Given the description of an element on the screen output the (x, y) to click on. 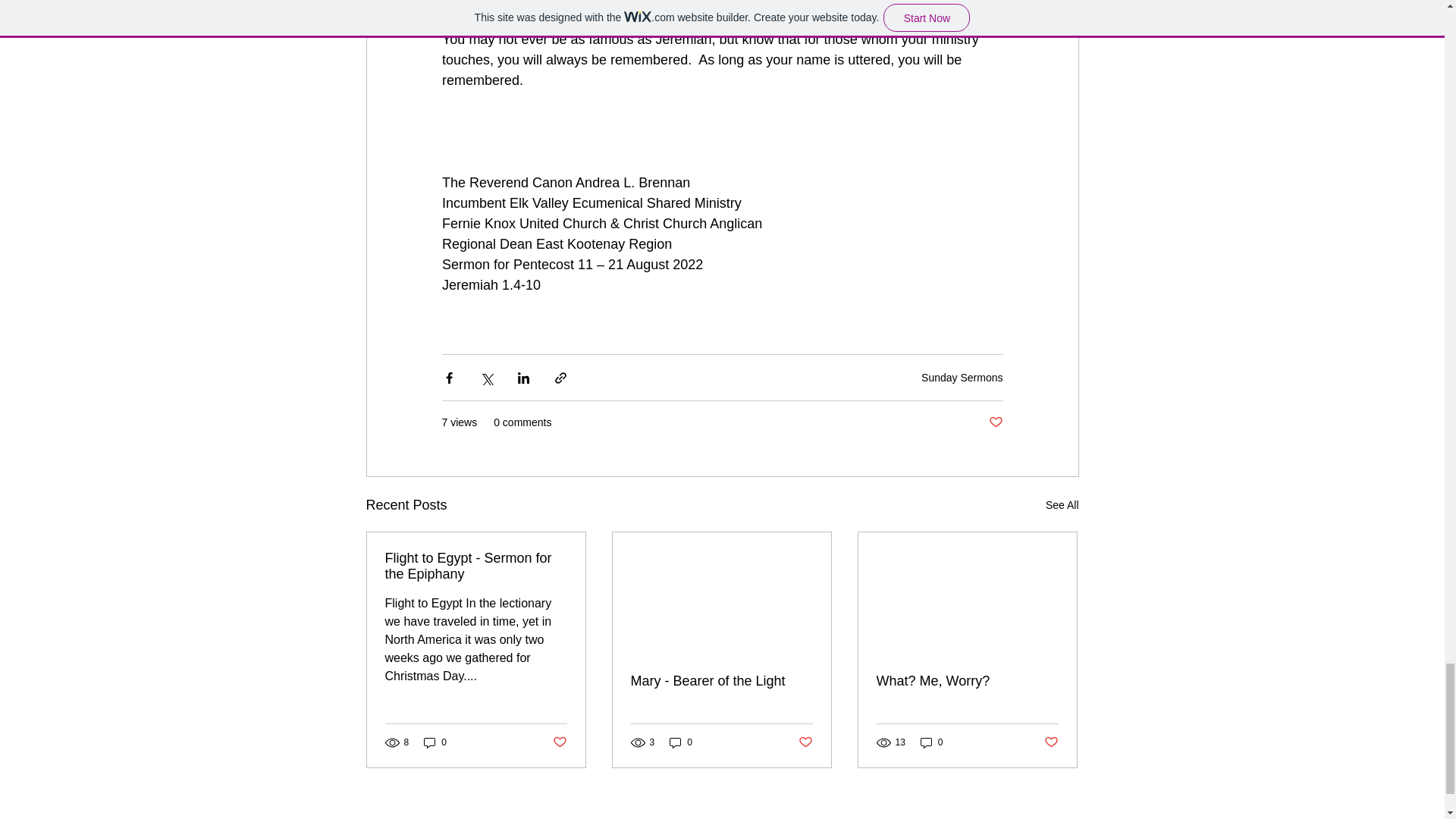
Post not marked as liked (804, 742)
Post not marked as liked (1050, 742)
0 (931, 742)
Post not marked as liked (558, 742)
Sunday Sermons (962, 377)
Mary - Bearer of the Light (721, 681)
Flight to Egypt - Sermon for the Epiphany (476, 566)
See All (1061, 505)
0 (435, 742)
0 (681, 742)
